Given the description of an element on the screen output the (x, y) to click on. 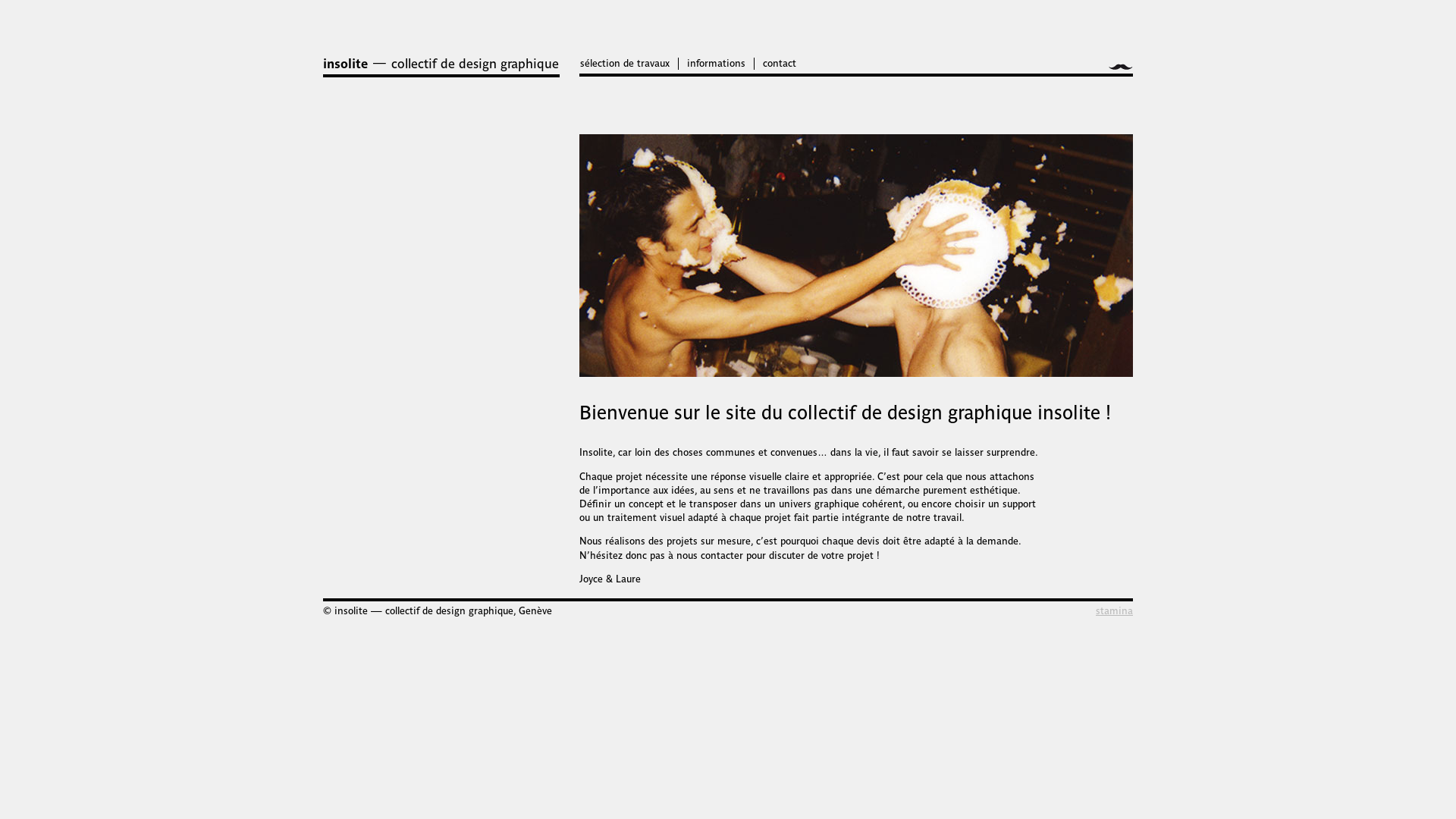
insolite Element type: text (345, 63)
informations Element type: text (716, 62)
contact Element type: text (779, 62)
stamina Element type: text (1113, 610)
